Given the description of an element on the screen output the (x, y) to click on. 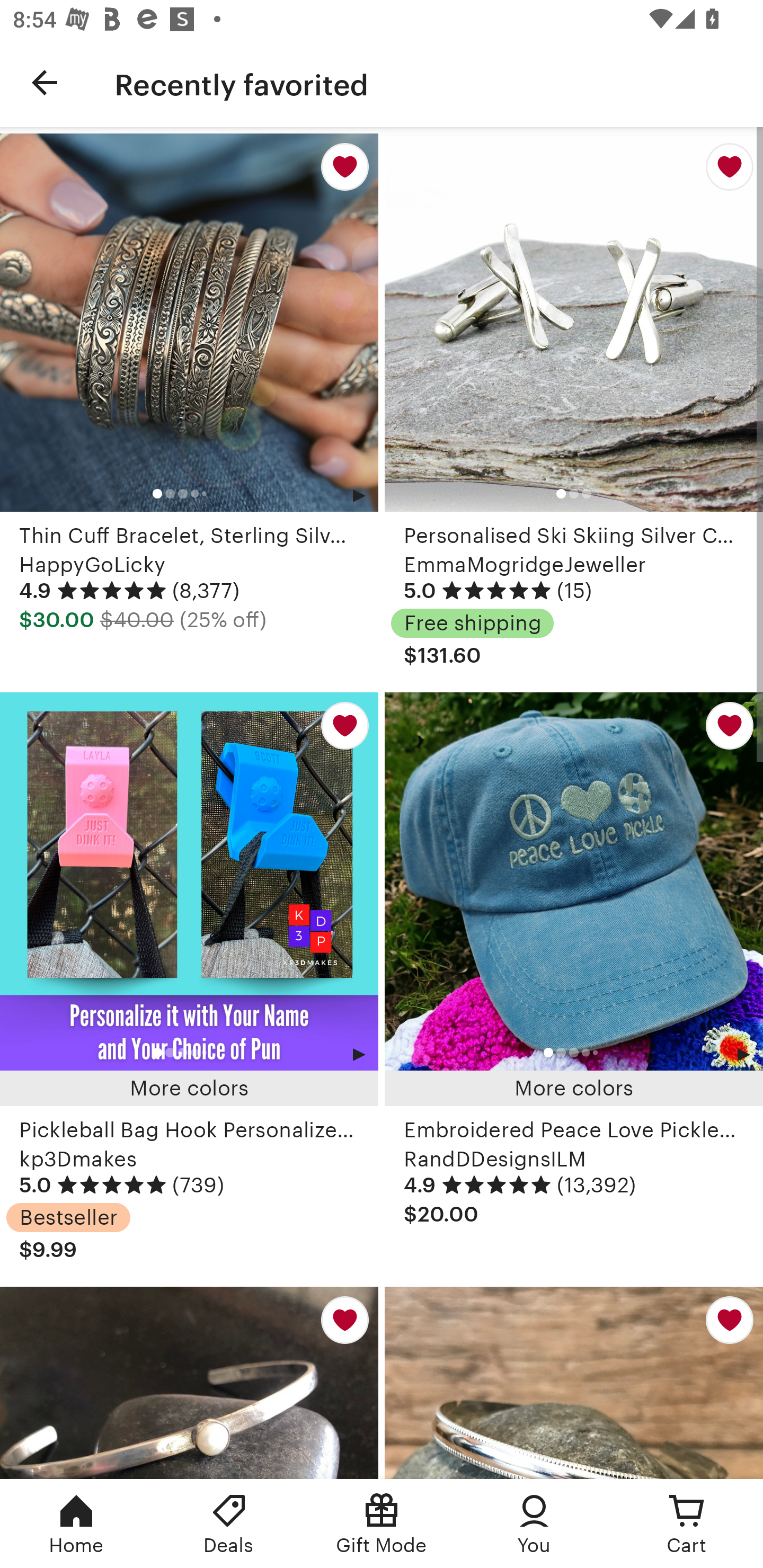
Navigate up (44, 82)
Deals (228, 1523)
Gift Mode (381, 1523)
You (533, 1523)
Cart (686, 1523)
